Given the description of an element on the screen output the (x, y) to click on. 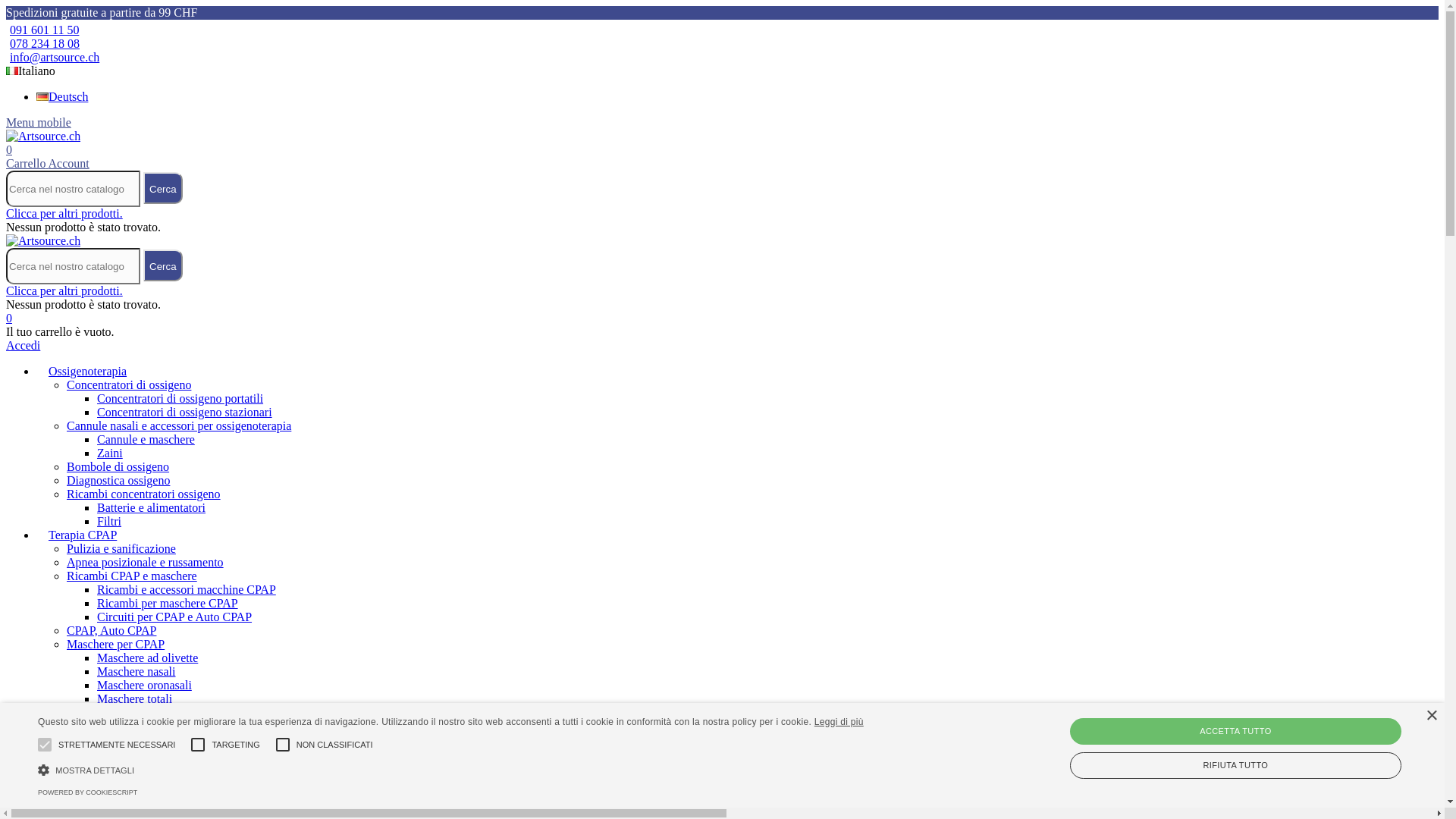
Clicca per altri prodotti. Element type: text (64, 290)
Pulizia e sanificazione Element type: text (120, 548)
POWERED BY COOKIESCRIPT Element type: text (87, 792)
Terapia CPAP Element type: text (82, 534)
Maschere totali Element type: text (134, 698)
Maschere ad olivette Element type: text (147, 657)
Cannule nasali e accessori per ossigenoterapia Element type: text (178, 425)
Maschere non ventilate Element type: text (153, 725)
078 234 18 08 Element type: text (42, 43)
Aerosolterapia Element type: text (102, 766)
091 601 11 50 Element type: text (42, 29)
Cannule e maschere Element type: text (145, 439)
CPAP, Auto CPAP Element type: text (111, 630)
Zaini Element type: text (109, 452)
Artsource.ch Element type: hover (43, 135)
info@artsource.ch Element type: text (52, 56)
Batterie e alimentatori Element type: text (151, 507)
Cerca Element type: text (162, 264)
Maschere per CPAP Element type: text (115, 643)
Deutsch Element type: text (61, 96)
Concentratori di ossigeno portatili Element type: text (180, 398)
Incentivazione respiratoria Element type: text (131, 780)
Apnea posizionale e russamento Element type: text (144, 561)
Bombole di ossigeno Element type: text (117, 466)
Cerca Element type: text (162, 187)
Terapia respiratoria Element type: text (95, 752)
Ricambi CPAP e maschere Element type: text (131, 575)
Maschere pediatriche Element type: text (148, 712)
Concentratori di ossigeno stazionari Element type: text (184, 411)
Ricambi concentratori ossigeno Element type: text (143, 493)
Maschere nasali Element type: text (136, 671)
Artsource.ch Element type: hover (43, 240)
Broncodisostruttori Element type: text (113, 793)
0 Element type: text (9, 317)
Cuscini per CPAP e ortopedici Element type: text (140, 739)
Ossigenoterapia Element type: text (87, 370)
Maschere oronasali Element type: text (144, 684)
Menu mobile Element type: text (38, 122)
Ricambi per maschere CPAP Element type: text (167, 602)
Filtri Element type: text (109, 520)
SERVIZI Element type: text (71, 807)
Concentratori di ossigeno Element type: text (128, 384)
Clicca per altri prodotti. Element type: text (64, 213)
Circuiti per CPAP e Auto CPAP Element type: text (174, 616)
Accedi Element type: text (23, 344)
Account Element type: text (68, 162)
Ricambi e accessori macchine CPAP Element type: text (186, 589)
0
Carrello Element type: text (552, 156)
Diagnostica ossigeno Element type: text (117, 479)
